Given the description of an element on the screen output the (x, y) to click on. 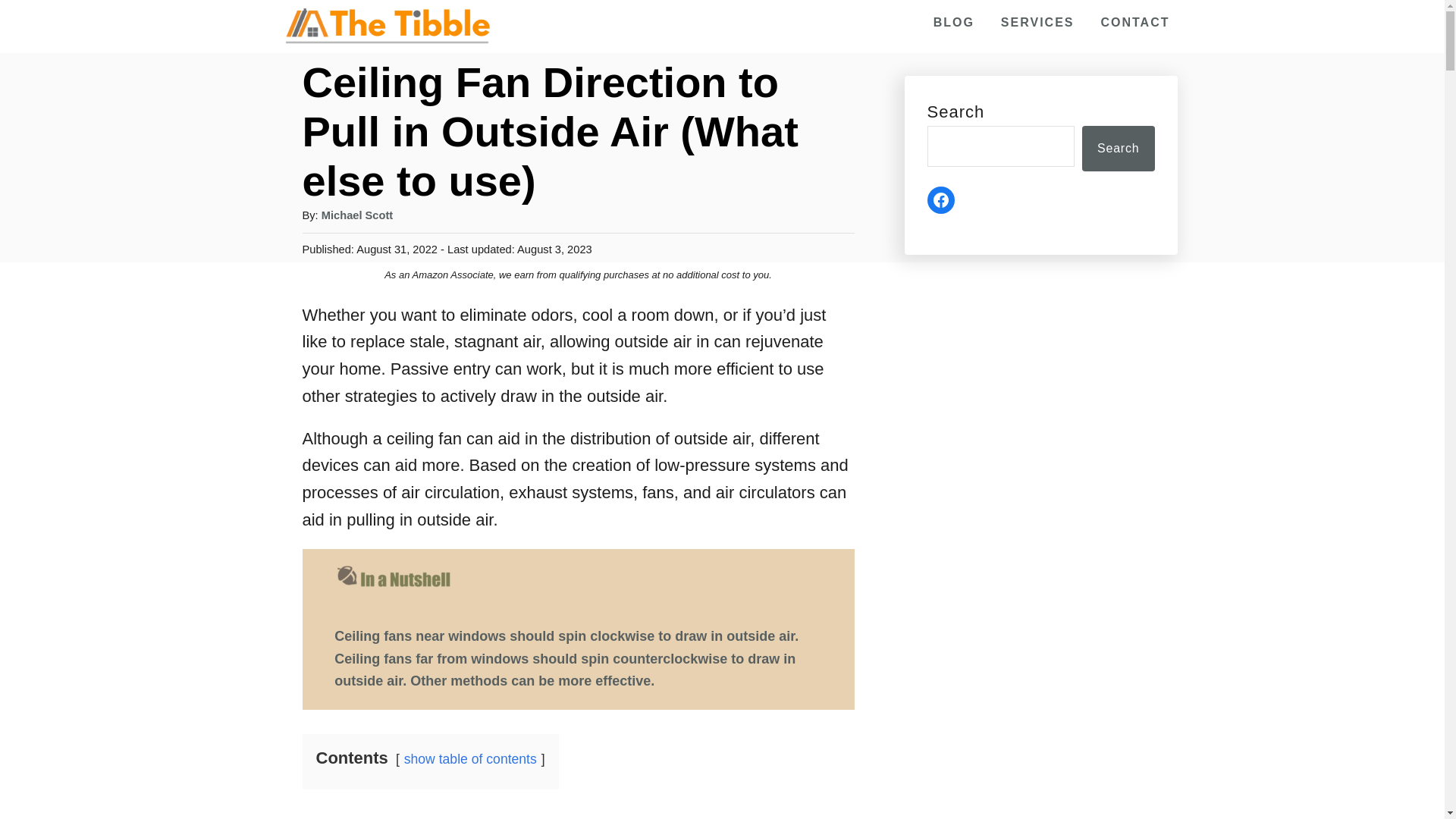
CONTACT (1134, 22)
The Tibble (387, 26)
SERVICES (1036, 22)
Michael Scott (357, 215)
BLOG (953, 22)
